Given the description of an element on the screen output the (x, y) to click on. 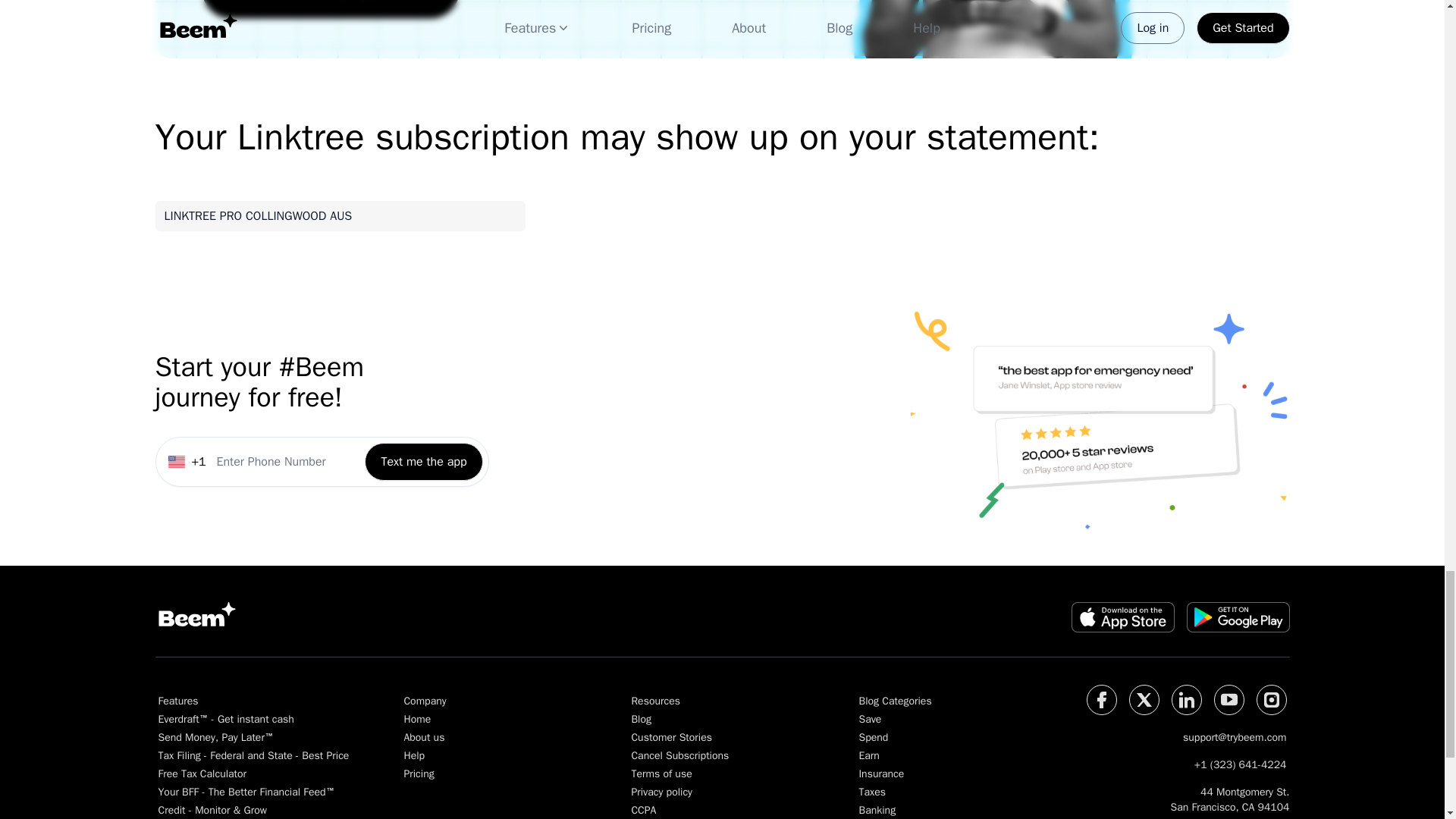
About us (489, 737)
Tax Filing - Federal and State - Best Price (253, 755)
Free Tax Calculator (253, 774)
Text me the app (423, 493)
Home (489, 719)
Help (489, 755)
Pricing (489, 774)
